Given the description of an element on the screen output the (x, y) to click on. 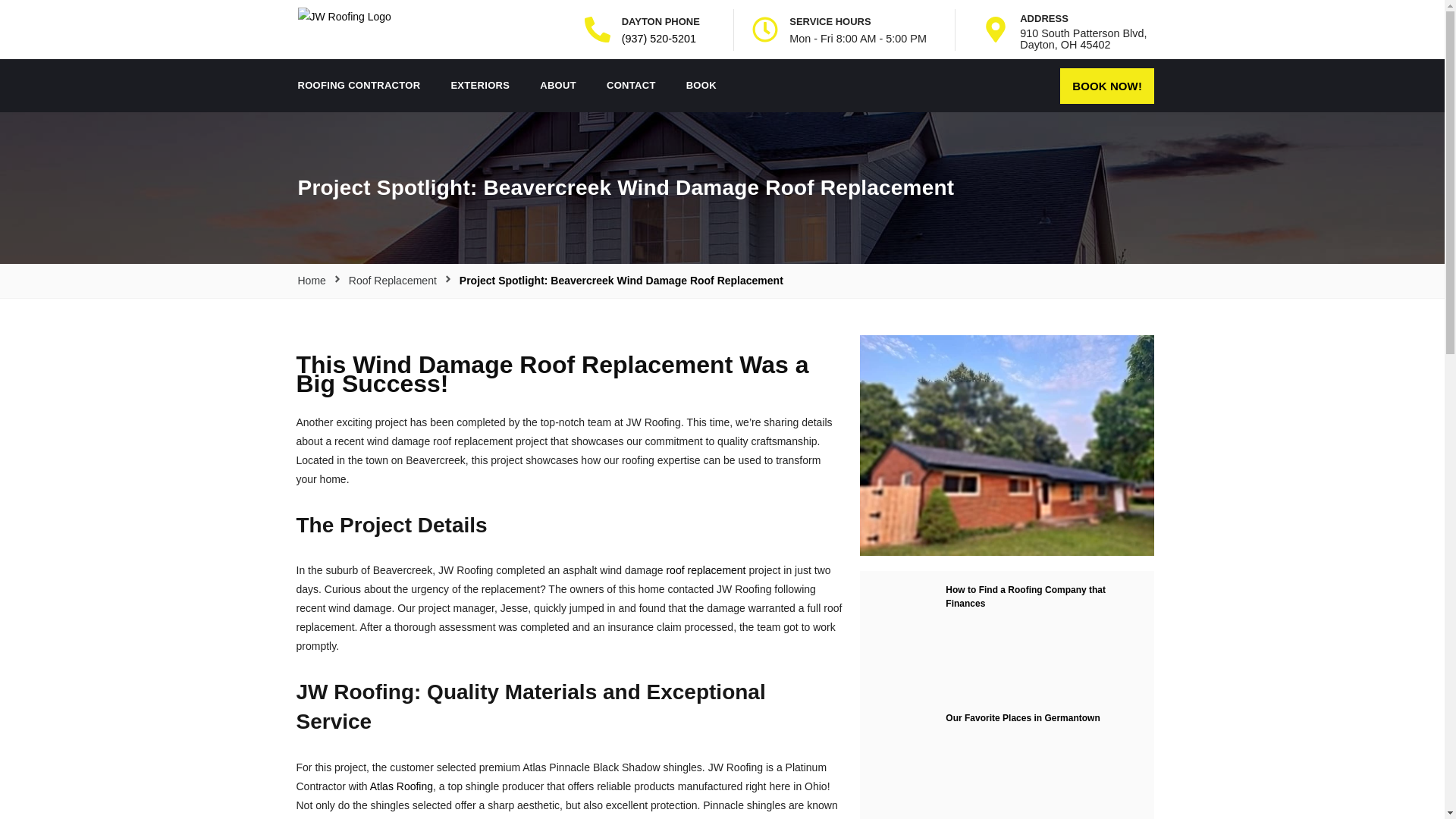
ABOUT (557, 85)
EXTERIORS (479, 85)
Home (310, 280)
CONTACT (631, 85)
Project Spotlight: Beavercreek Wind Damage Roof Replacement (621, 280)
BOOK (701, 85)
ROOFING CONTRACTOR (358, 85)
